Given the description of an element on the screen output the (x, y) to click on. 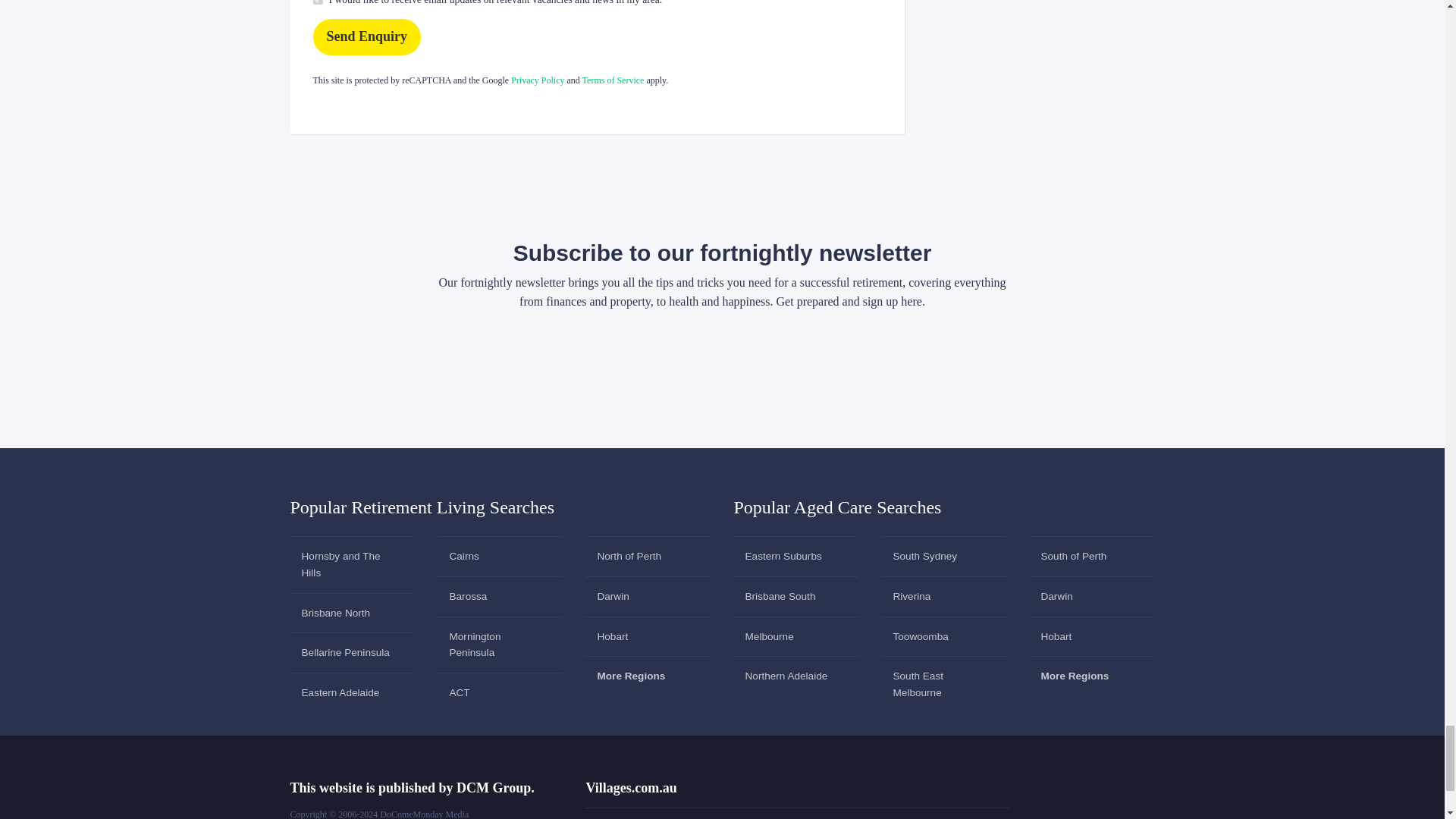
true (317, 2)
Form 0 (722, 376)
